Given the description of an element on the screen output the (x, y) to click on. 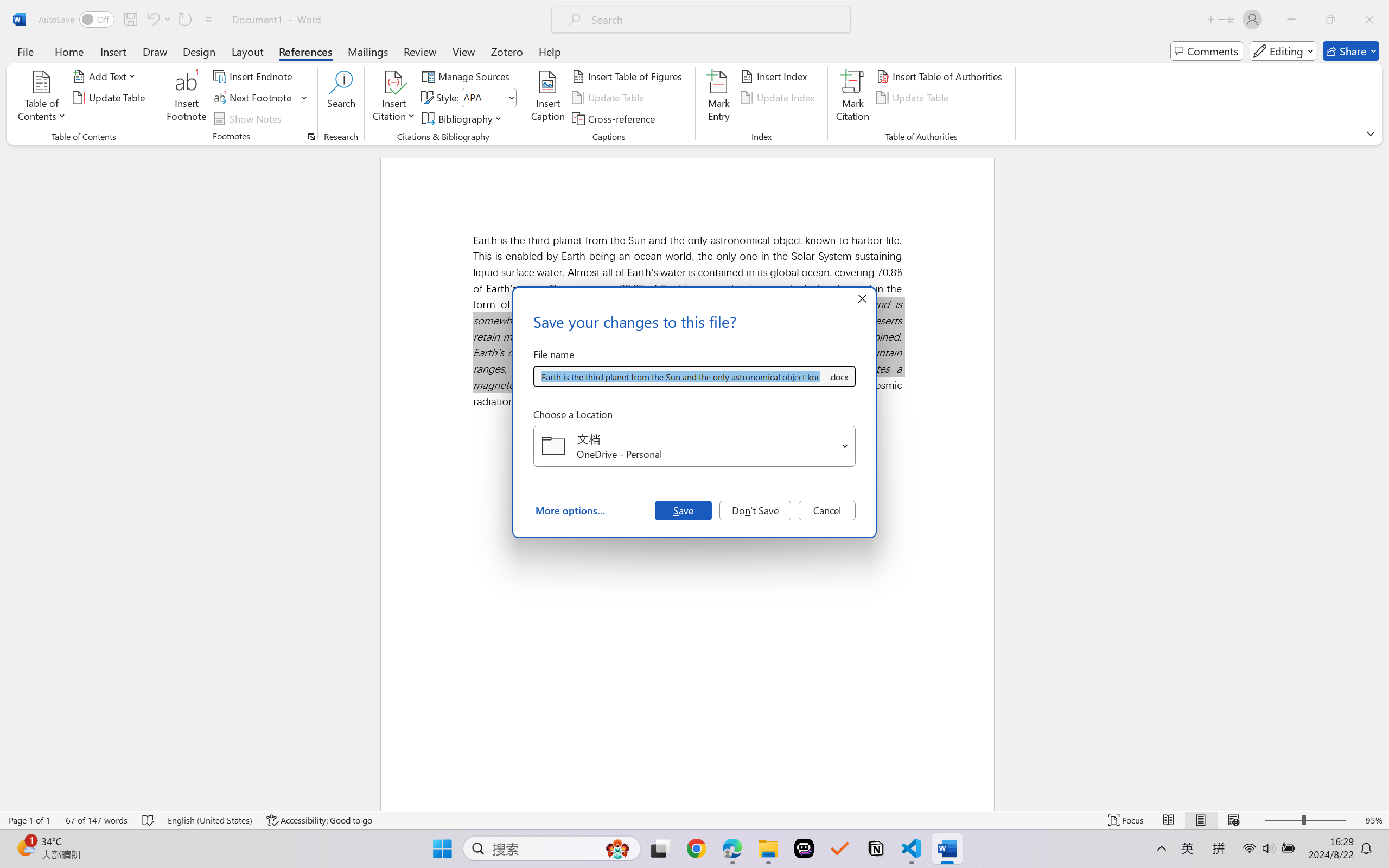
Notion (875, 848)
Insert Caption... (547, 97)
Show Notes (248, 118)
Next Footnote (253, 97)
Open (844, 446)
Style (483, 96)
Zoom 95% (1374, 819)
Update Index (778, 97)
Microsoft search (715, 19)
